Given the description of an element on the screen output the (x, y) to click on. 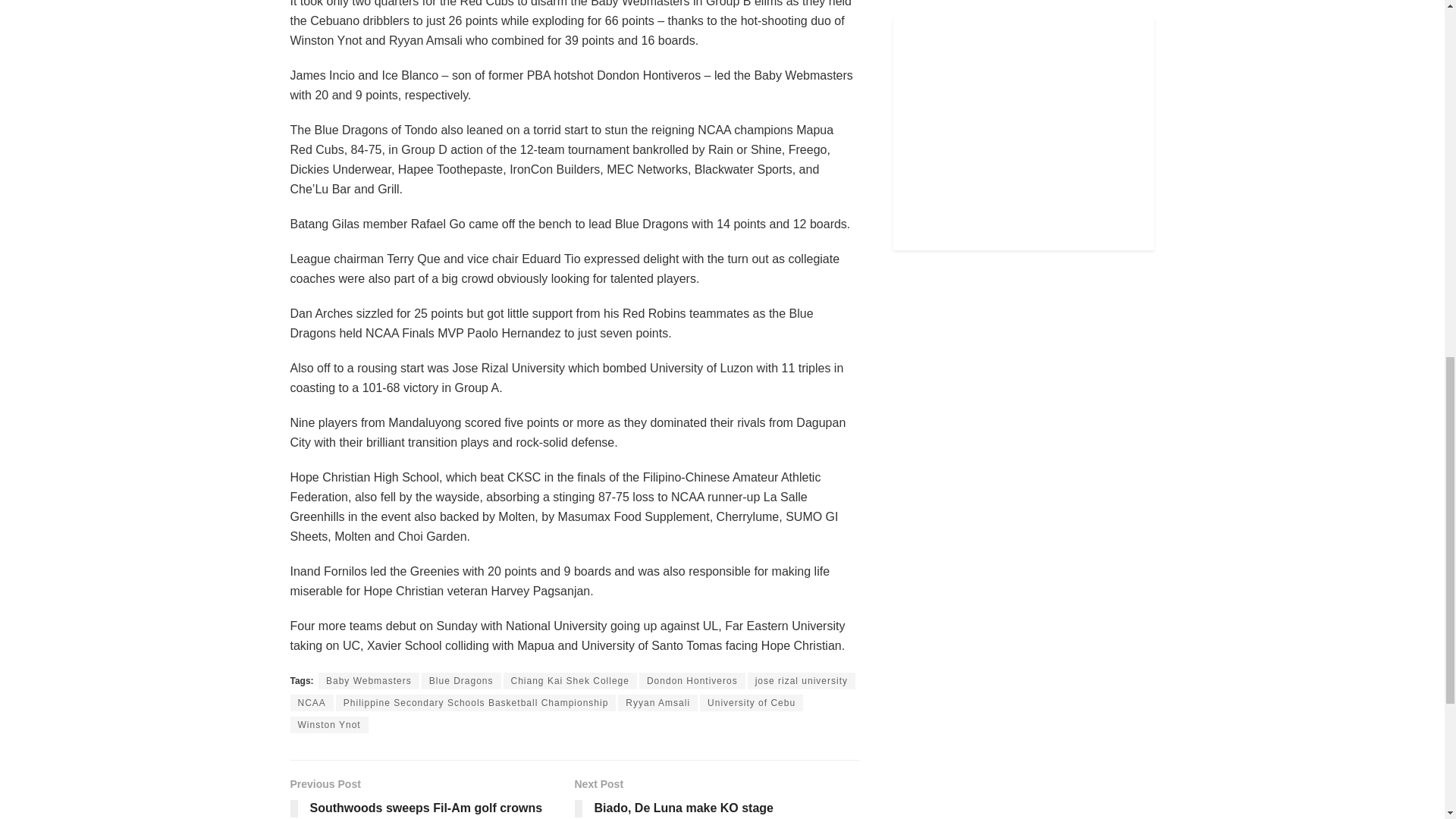
jose rizal university (802, 680)
University of Cebu (751, 702)
Dondon Hontiveros (692, 680)
Philippine Secondary Schools Basketball Championship (431, 797)
NCAA (475, 702)
Winston Ynot (311, 702)
Ryyan Amsali (328, 724)
Blue Dragons (657, 702)
Baby Webmasters (461, 680)
